Given the description of an element on the screen output the (x, y) to click on. 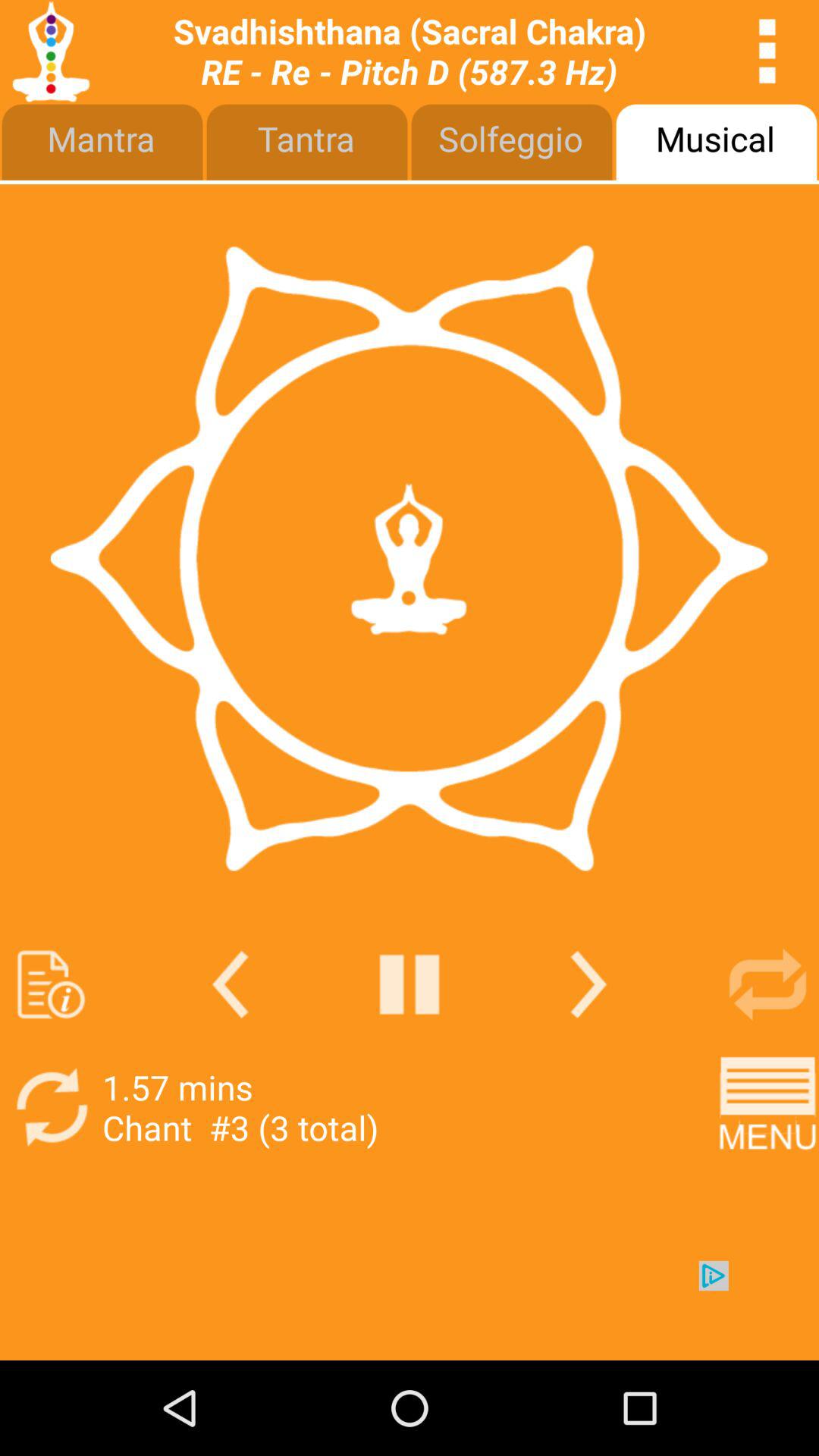
menu option (767, 1107)
